Given the description of an element on the screen output the (x, y) to click on. 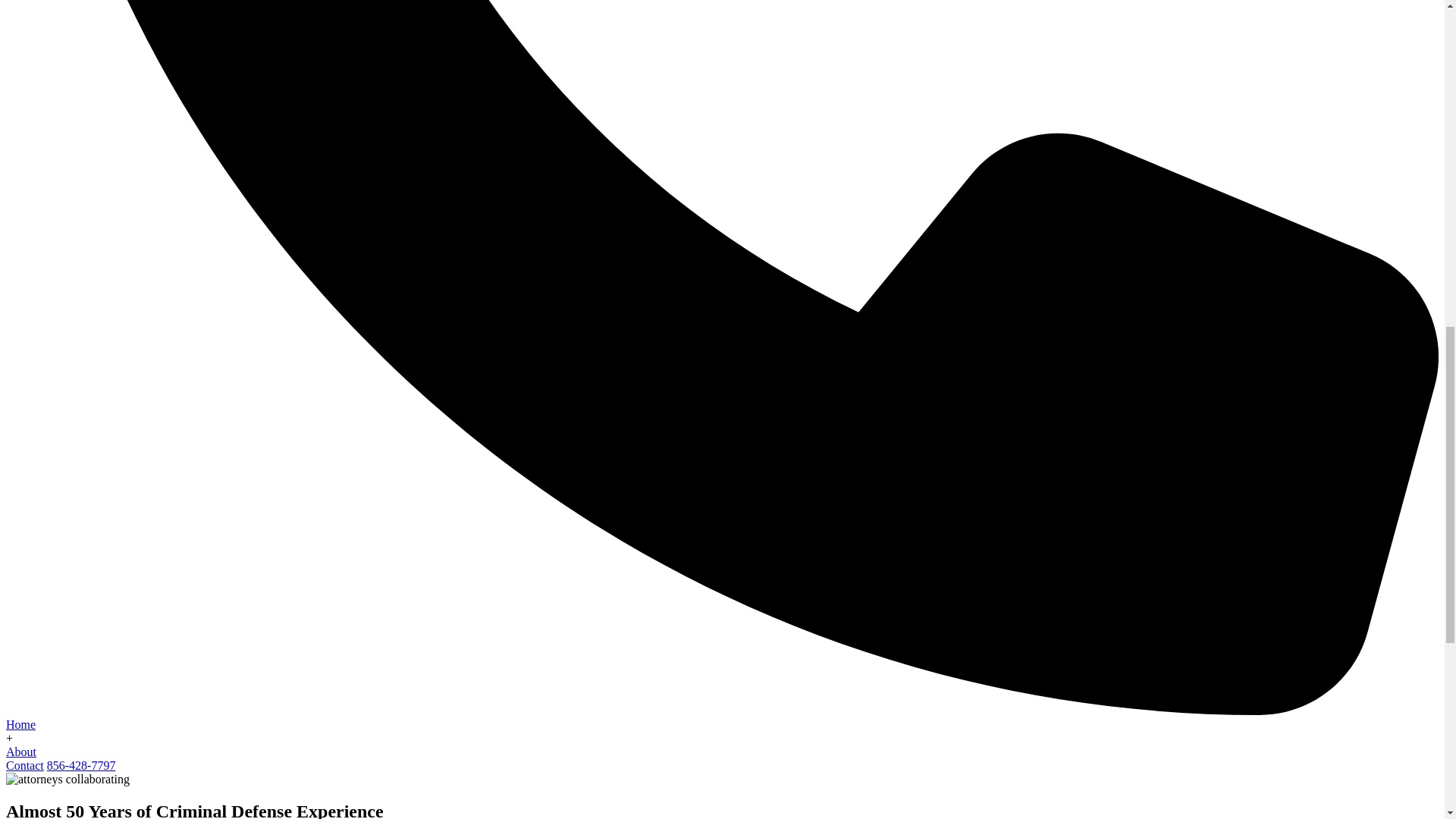
Home (19, 724)
856-428-7797 (81, 765)
Contact (24, 765)
About (20, 751)
